Given the description of an element on the screen output the (x, y) to click on. 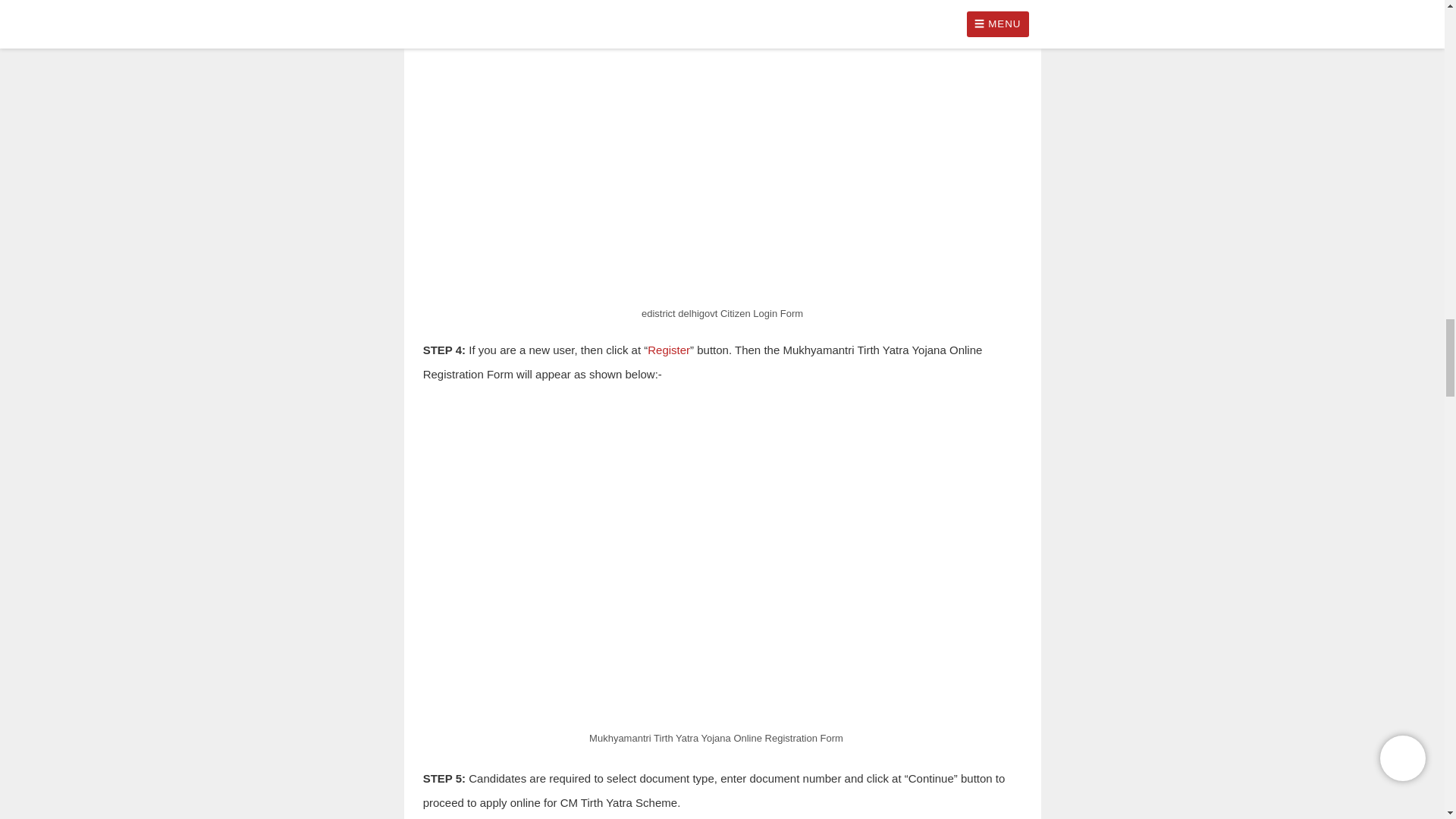
Register (668, 349)
